Given the description of an element on the screen output the (x, y) to click on. 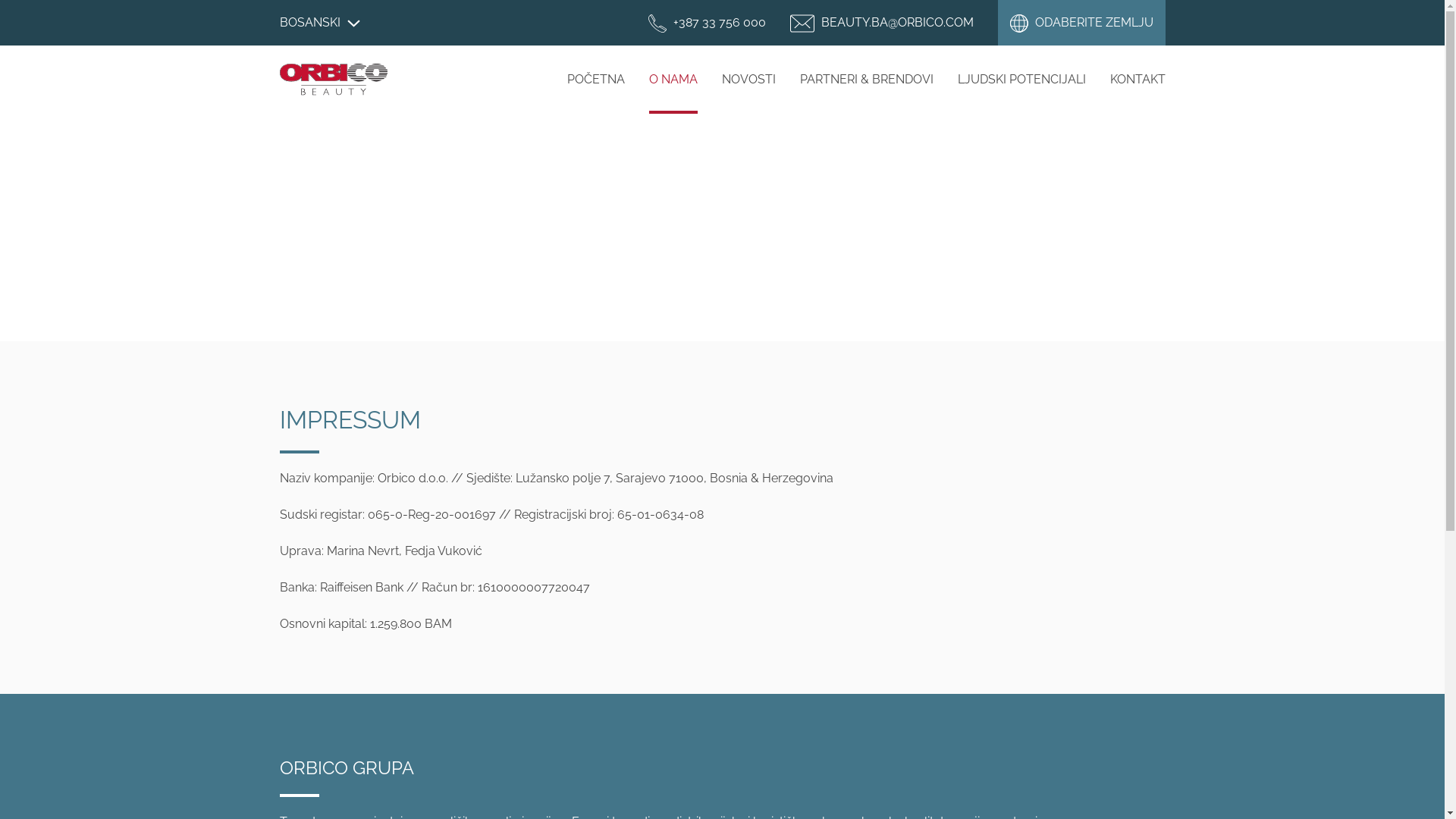
BOSANSKI Element type: text (319, 22)
PARTNERI & BRENDOVI Element type: text (865, 79)
+387 33 756 000 Element type: text (706, 22)
ODABERITE ZEMLJU Element type: text (1081, 22)
BEAUTY.BA@ORBICO.COM Element type: text (881, 22)
O NAMA Element type: text (673, 79)
NOVOSTI Element type: text (748, 79)
KONTAKT Element type: text (1137, 79)
Orbico Beauty - Bosna i Hercegovina Element type: text (332, 79)
LJUDSKI POTENCIJALI Element type: text (1021, 79)
